Given the description of an element on the screen output the (x, y) to click on. 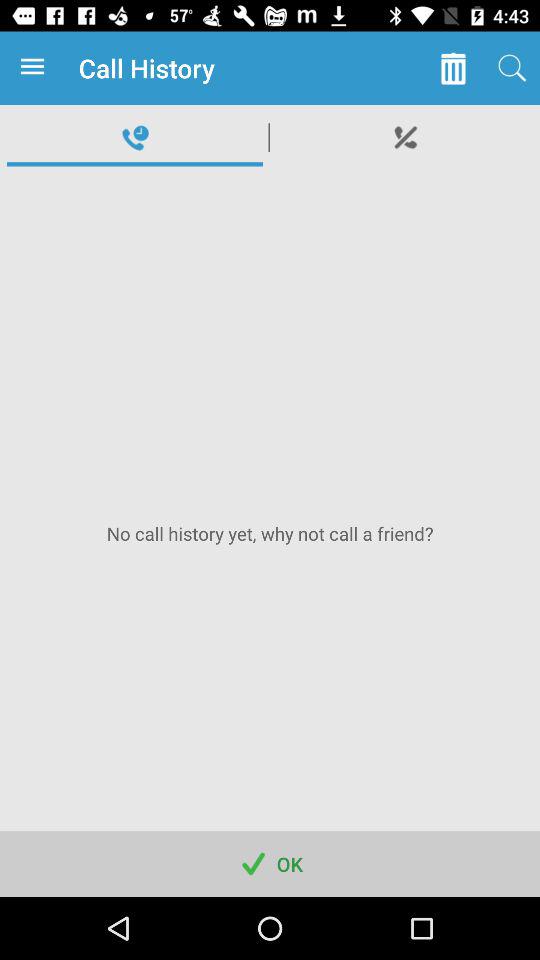
press icon to the right of call history item (452, 67)
